Given the description of an element on the screen output the (x, y) to click on. 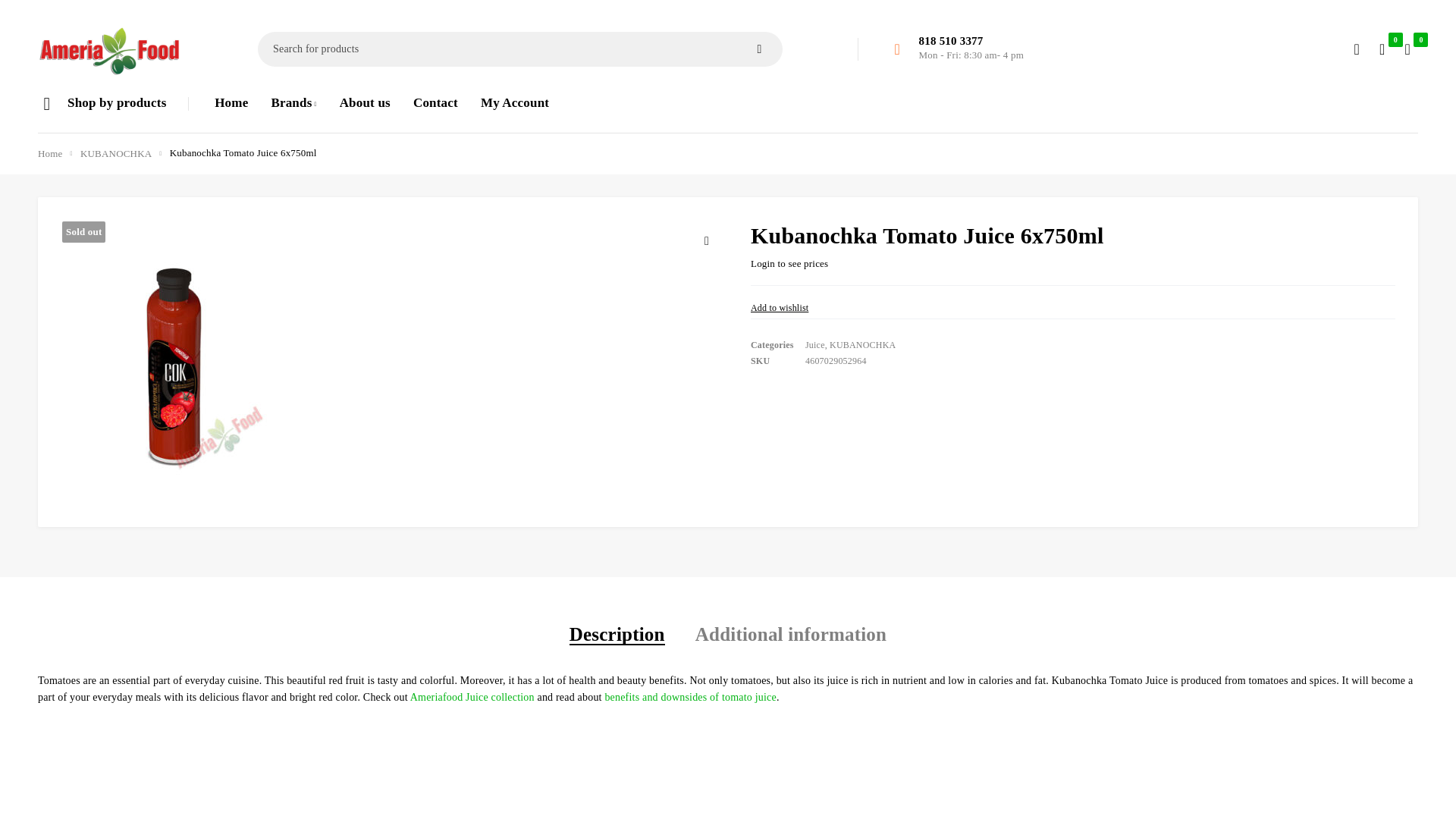
Ameria Food (109, 51)
My Account (514, 102)
Search (759, 48)
About us (364, 102)
KUBANOCHKA (115, 153)
Search (759, 48)
Home (230, 102)
Home (49, 153)
Contact (435, 102)
Brands (292, 102)
